Given the description of an element on the screen output the (x, y) to click on. 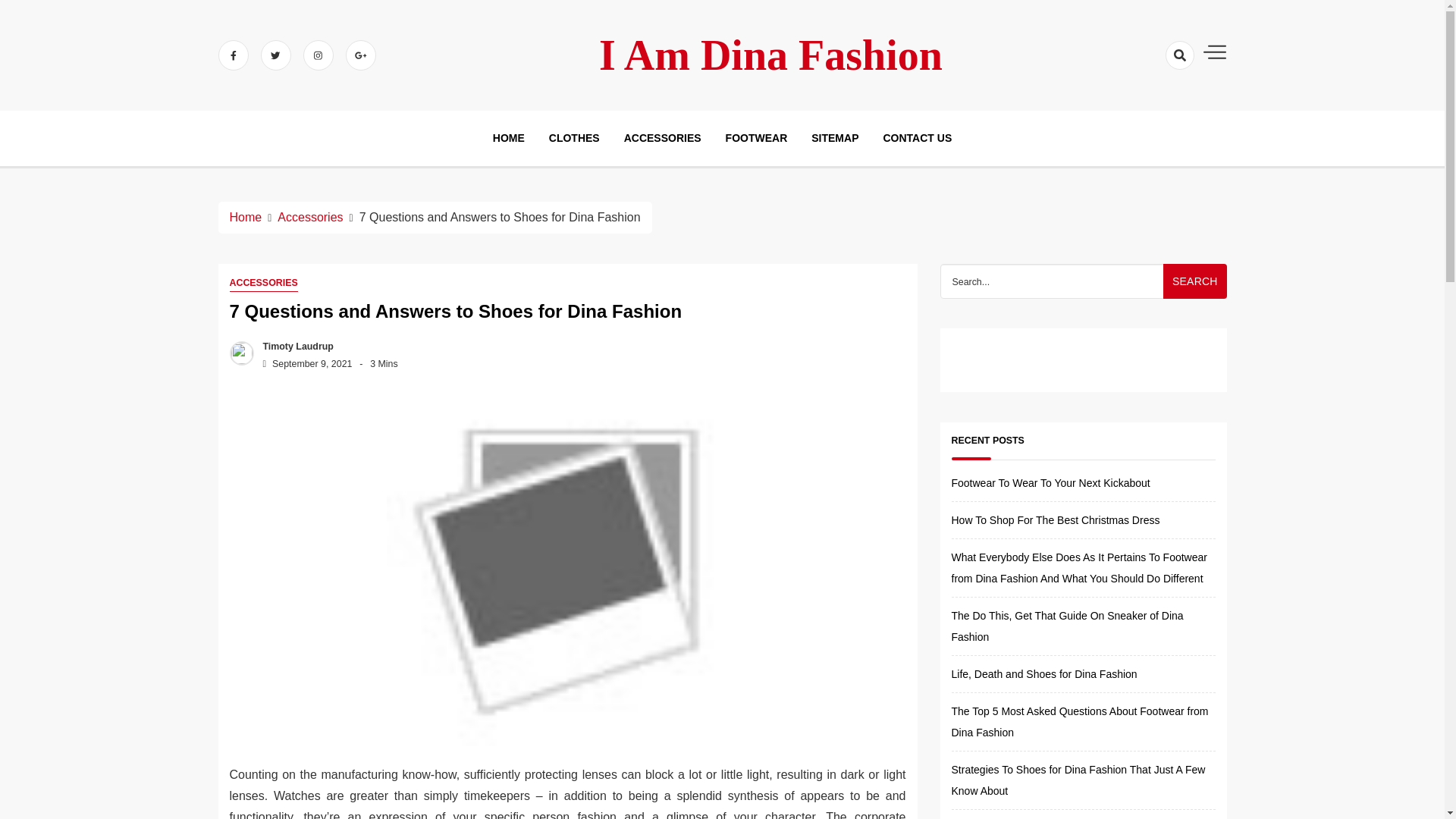
I Am Dina Fashion (770, 54)
Search (1194, 280)
Search (1194, 280)
Timoty Laudrup (294, 346)
Accessories (310, 216)
CLOTHES (573, 138)
Search (1194, 280)
ACCESSORIES (662, 138)
September 9, 2021 (304, 363)
Home (245, 216)
CONTACT US (917, 138)
Search (1150, 108)
FOOTWEAR (756, 138)
ACCESSORIES (262, 282)
